Given the description of an element on the screen output the (x, y) to click on. 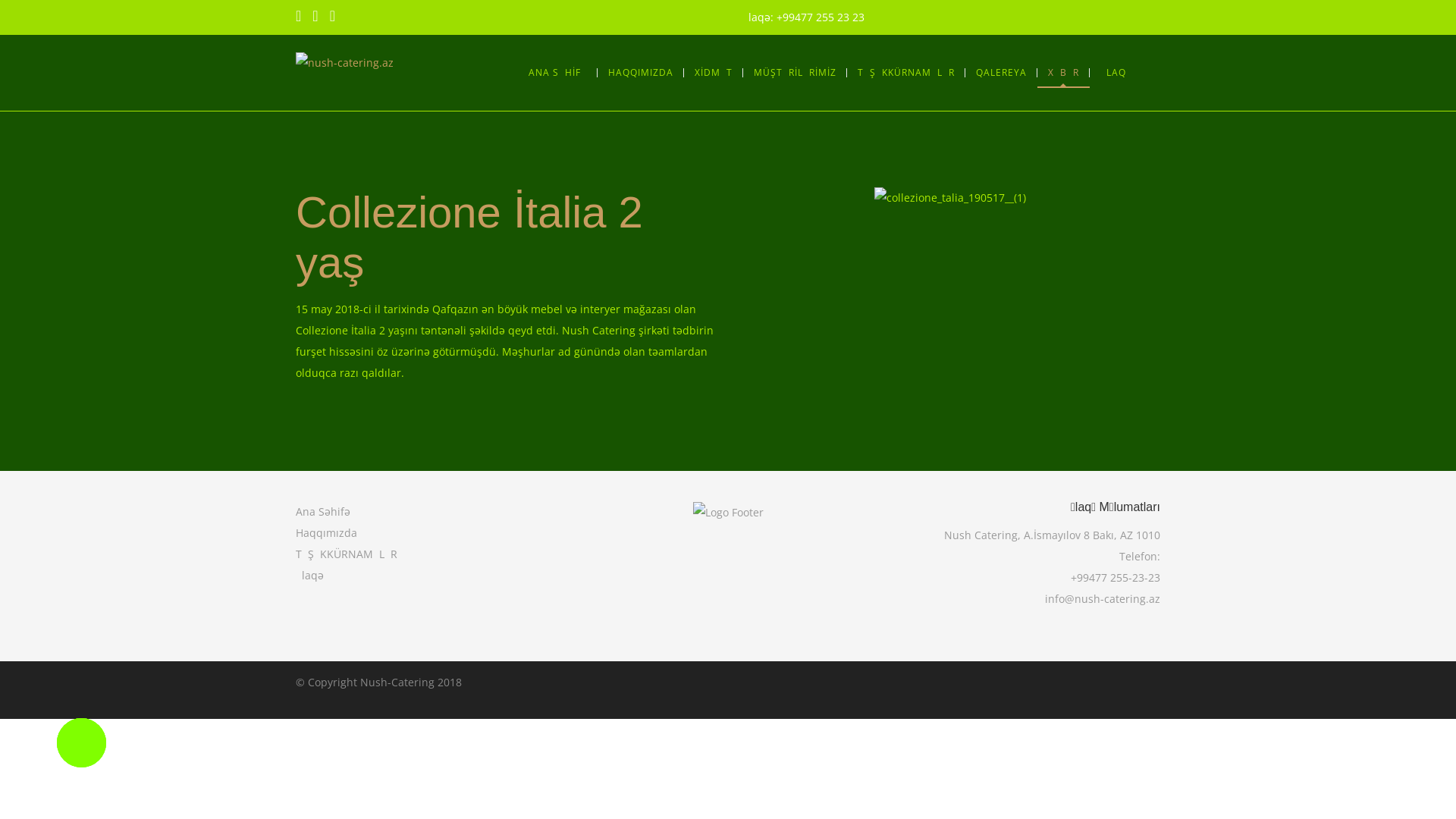
Nush-Catering Element type: text (397, 681)
QALEREYA Element type: text (1000, 72)
HAQQIMIZDA Element type: text (640, 72)
collezione_talia_190517__(1) Element type: hover (949, 197)
